Given the description of an element on the screen output the (x, y) to click on. 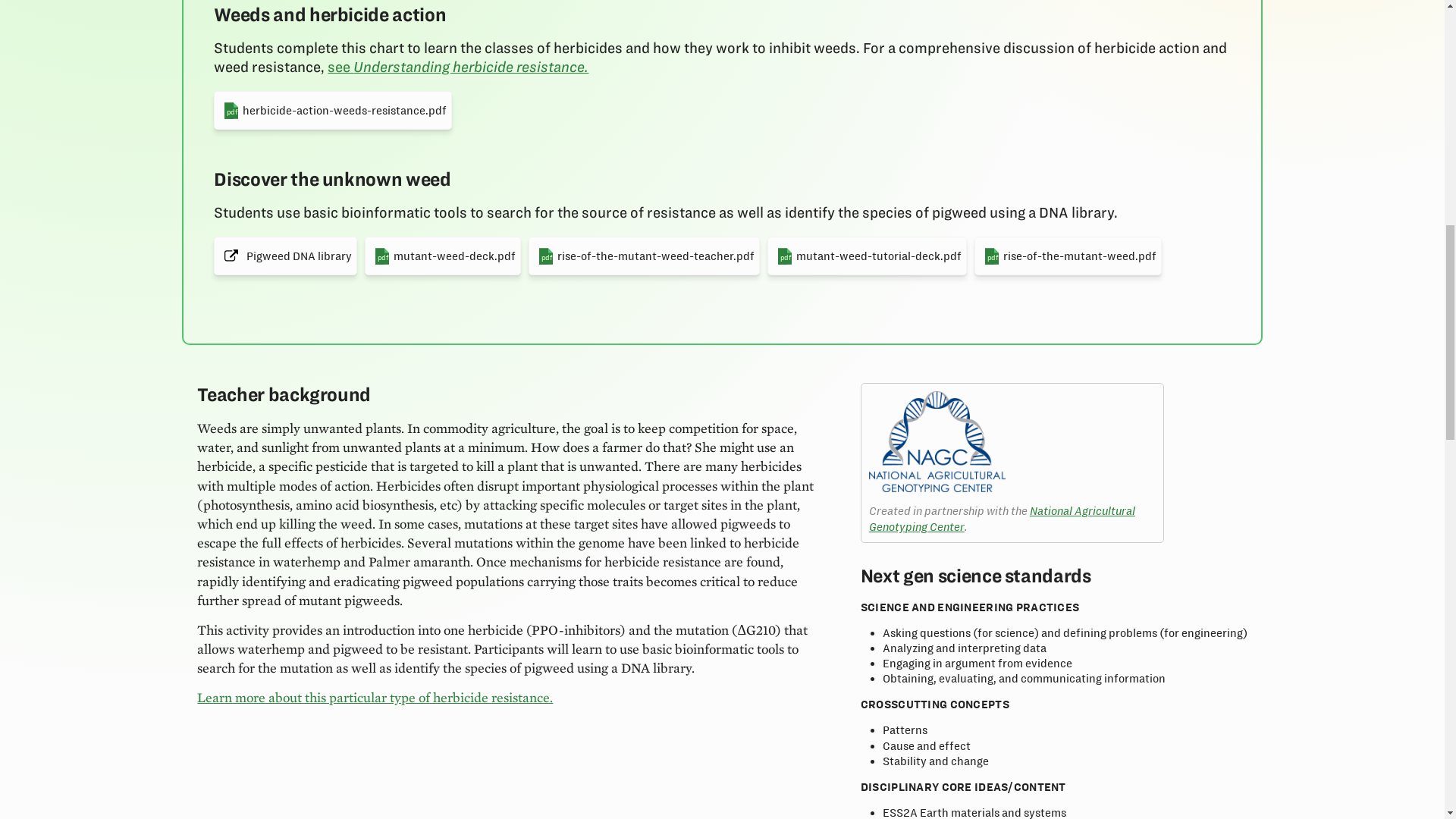
Pigweed DNA library (285, 255)
National Agricultural Genotyping Center (1002, 518)
see Understanding herbicide resistance. (457, 66)
Visit Pigweed DNA library (866, 255)
